Given the description of an element on the screen output the (x, y) to click on. 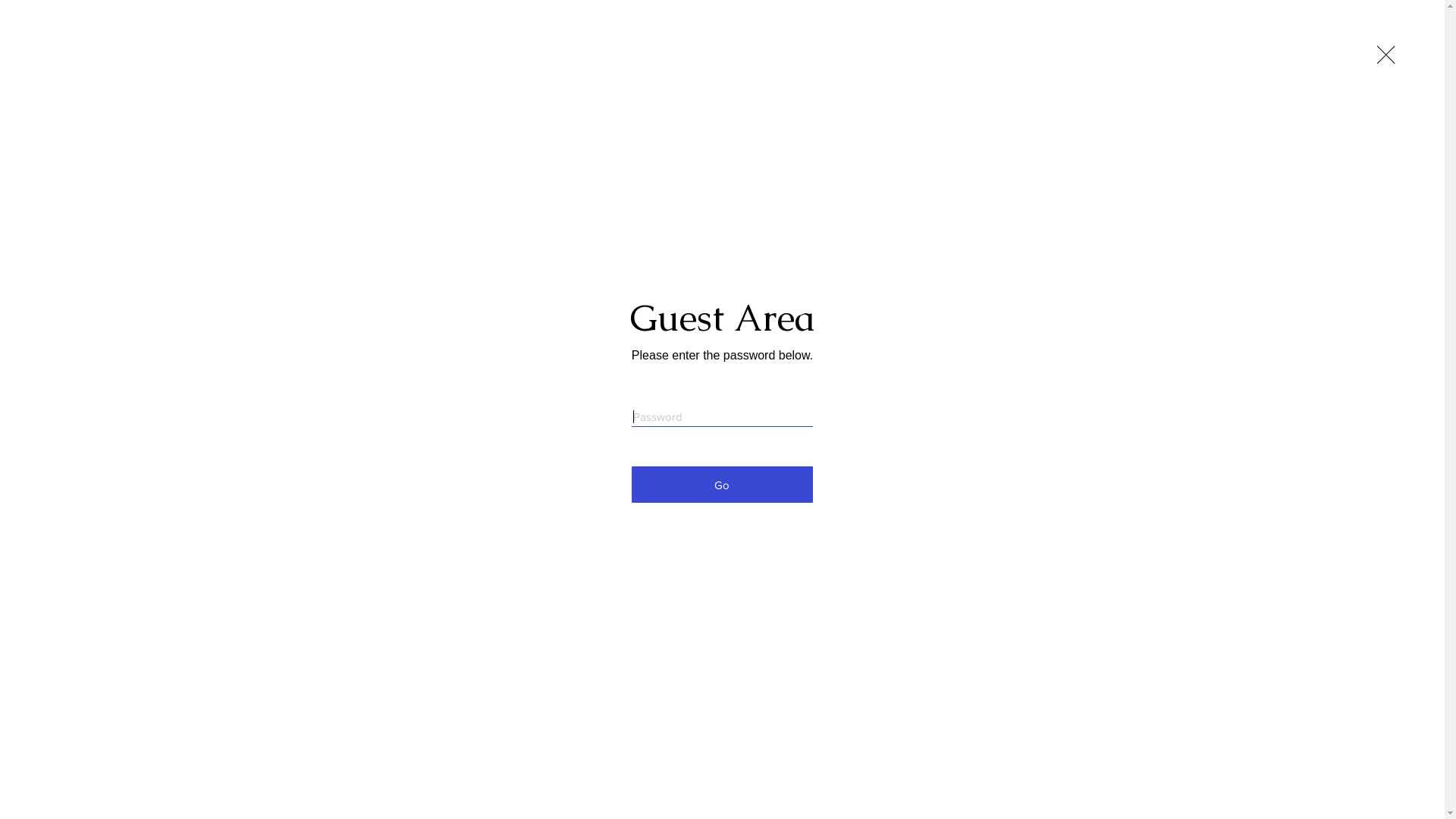
Go Element type: text (721, 484)
